Given the description of an element on the screen output the (x, y) to click on. 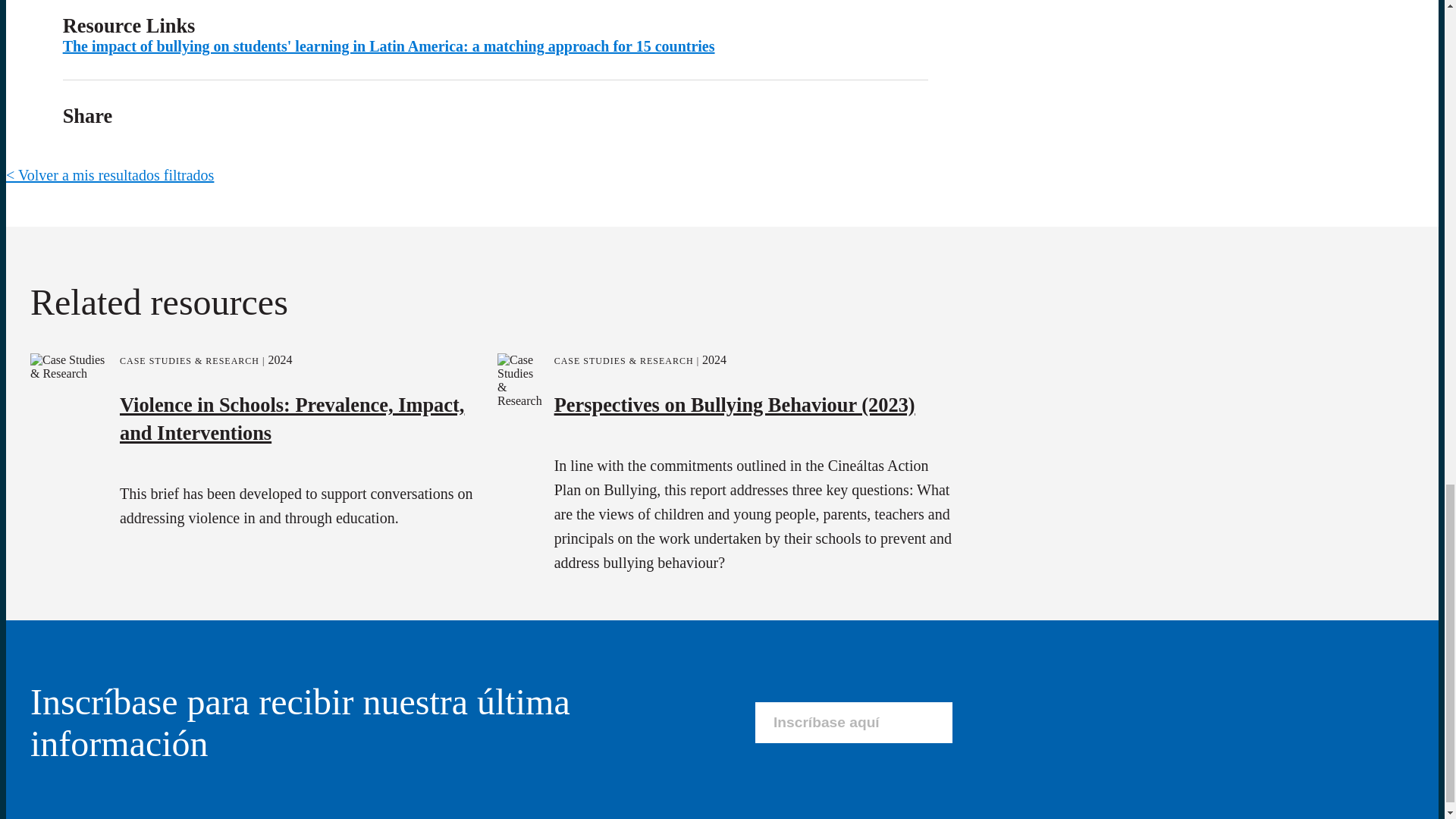
Violence in Schools: Prevalence, Impact, and Interventions (291, 53)
Home (24, 527)
Home (188, 560)
